Given the description of an element on the screen output the (x, y) to click on. 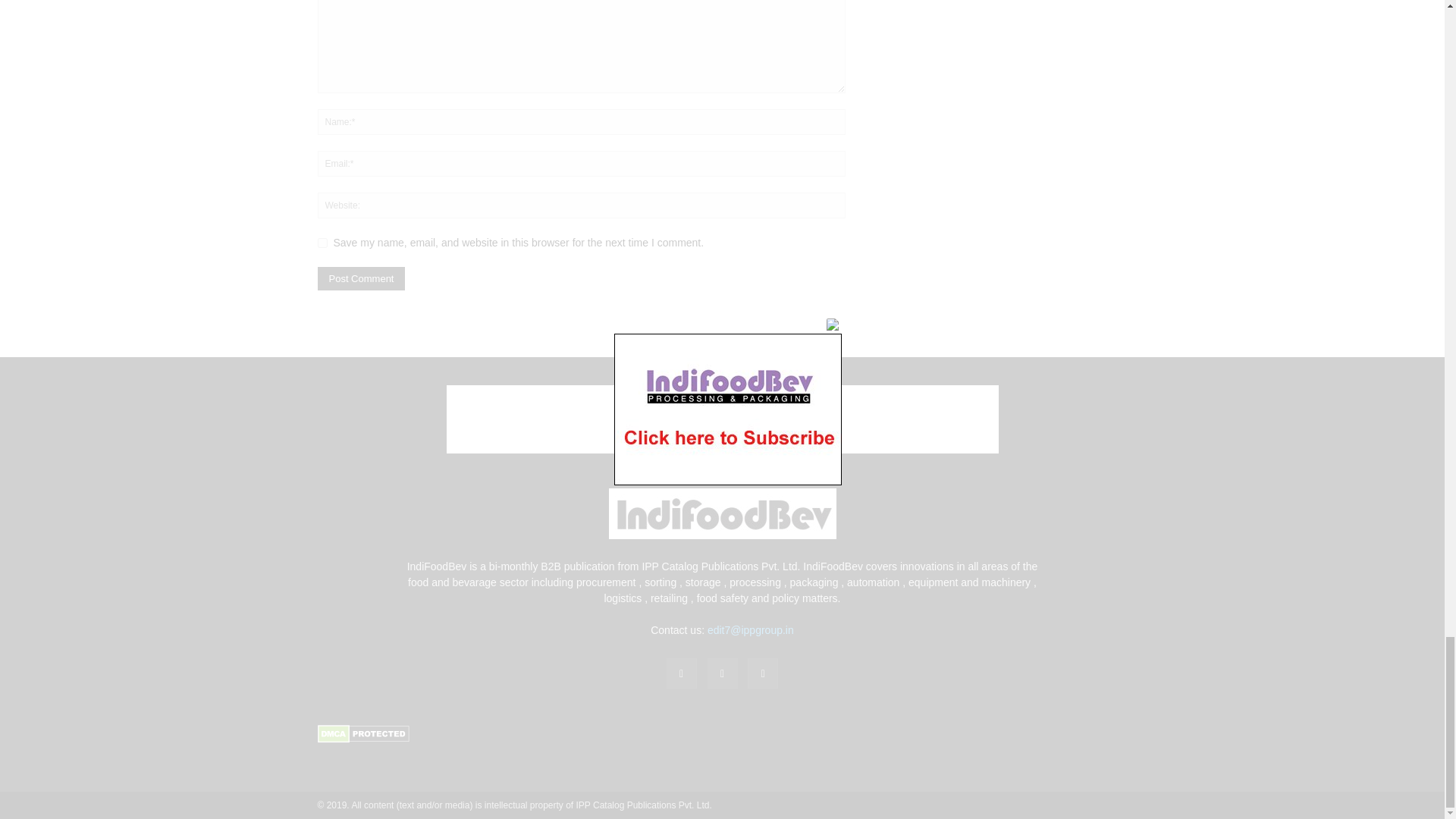
Post Comment (360, 278)
yes (321, 243)
